Given the description of an element on the screen output the (x, y) to click on. 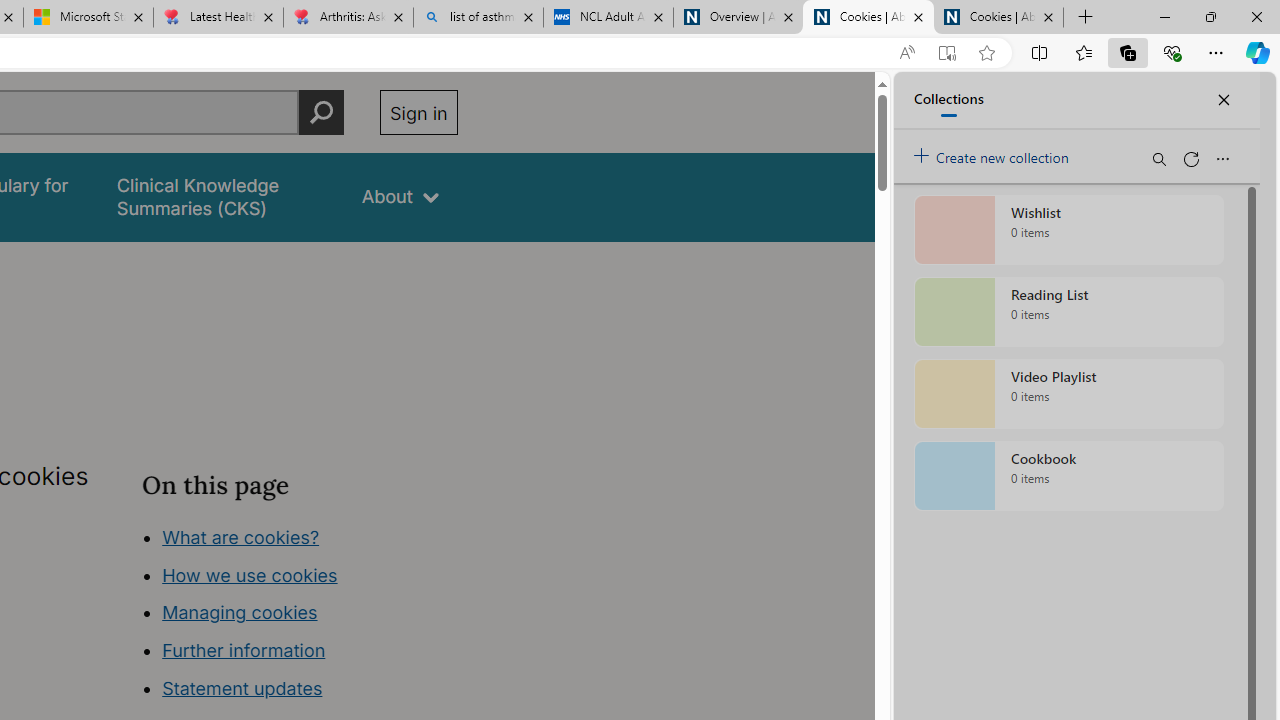
How we use cookies (249, 574)
